Given the description of an element on the screen output the (x, y) to click on. 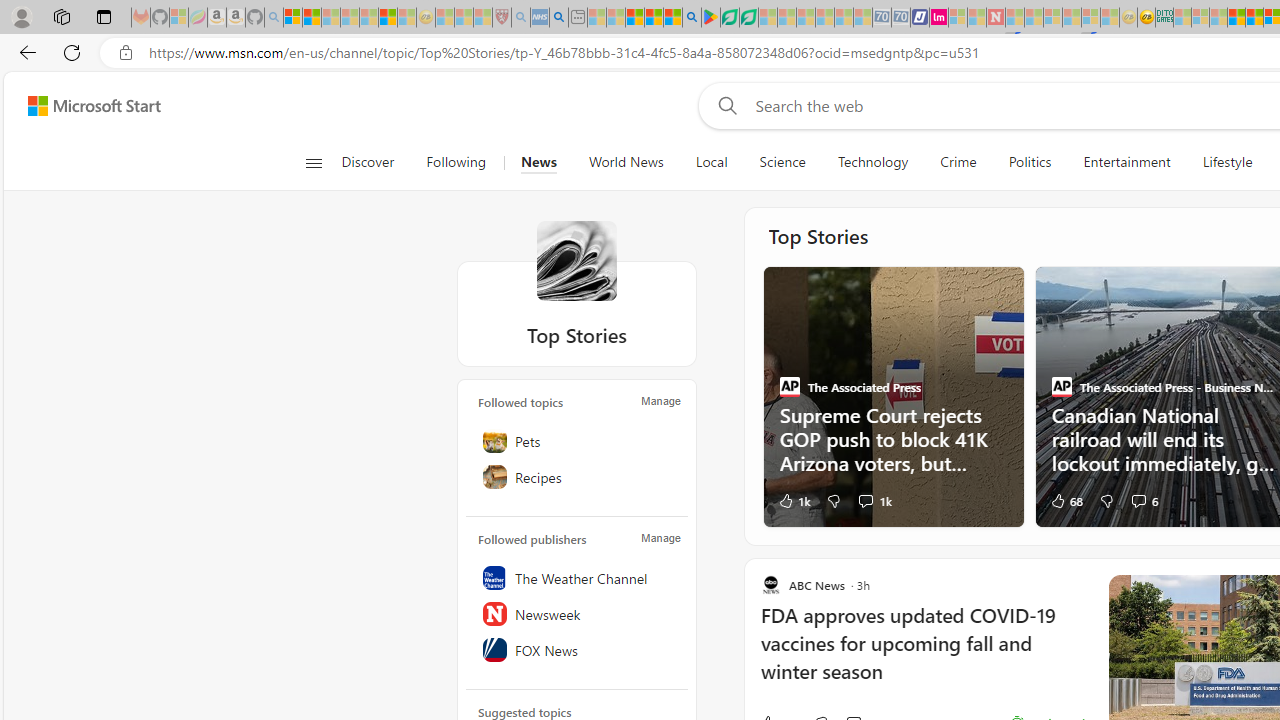
Jobs - lastminute.com Investor Portal (939, 17)
View comments 6 Comment (1138, 500)
